Given the description of an element on the screen output the (x, y) to click on. 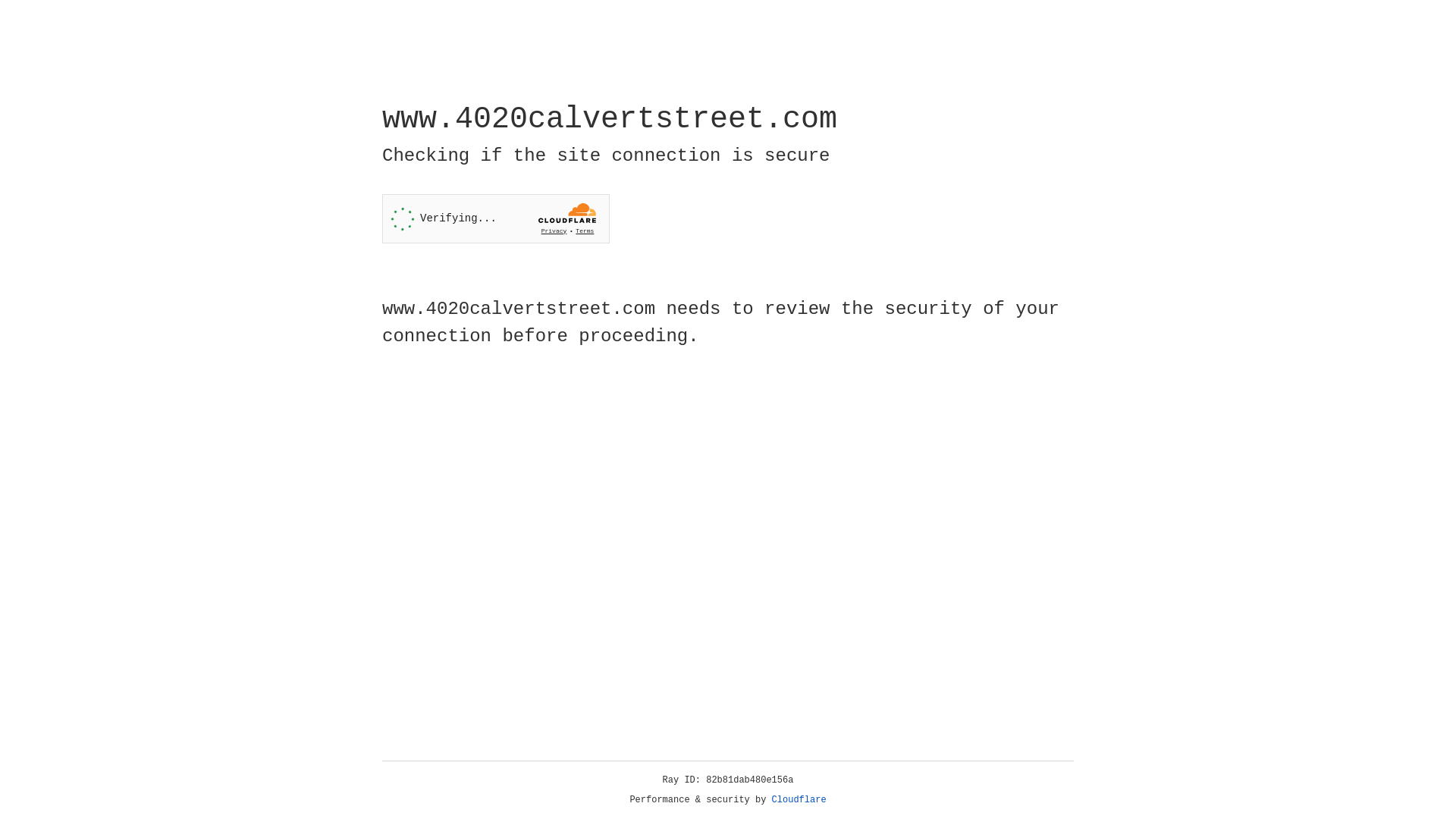
Widget containing a Cloudflare security challenge Element type: hover (495, 218)
Cloudflare Element type: text (798, 799)
